Given the description of an element on the screen output the (x, y) to click on. 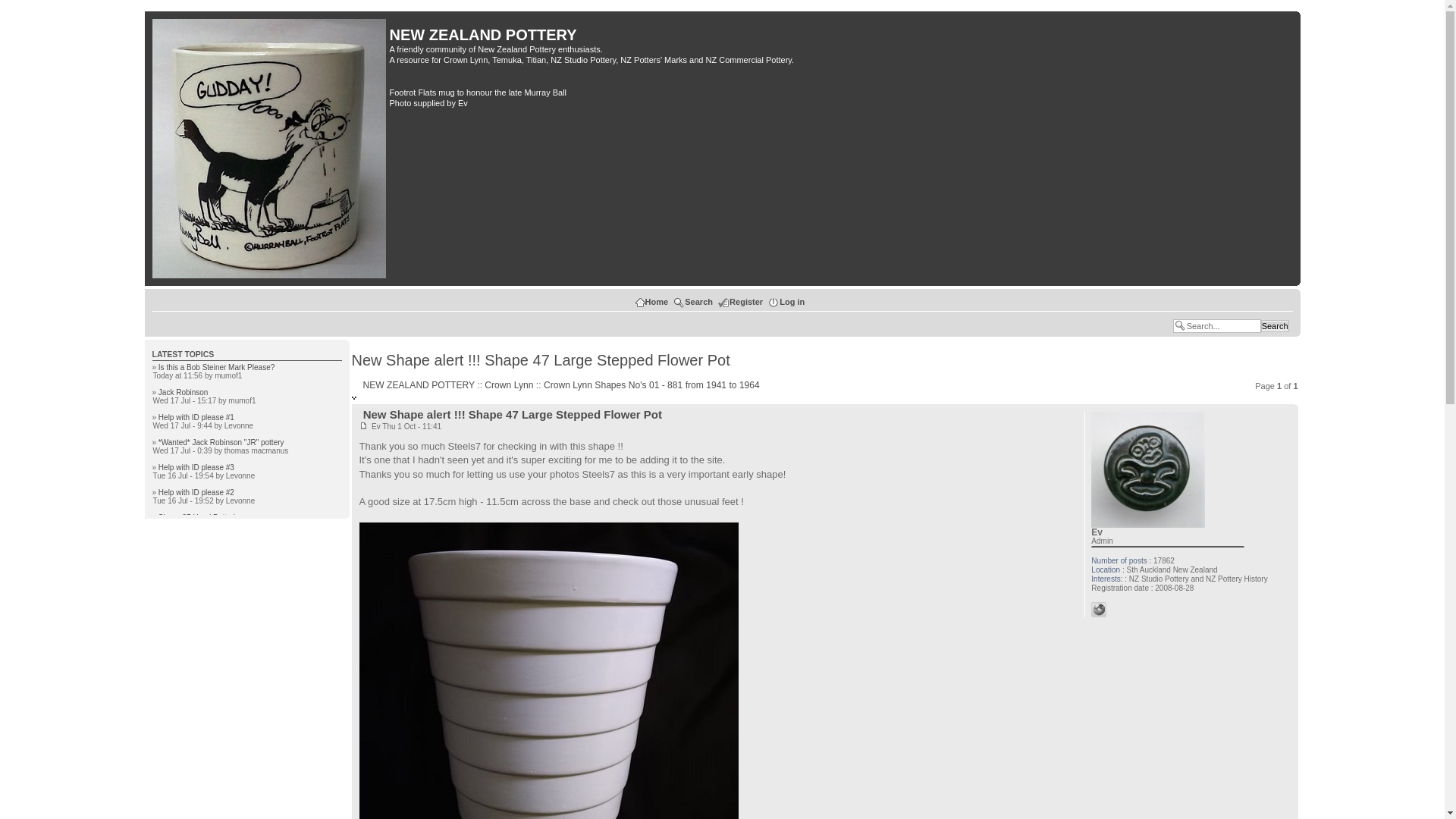
Jack Robinson (183, 392)
New Shape alert !!! Shape 47 Large Stepped Flower Pot (512, 413)
Post (363, 425)
Search (1274, 326)
Register (739, 301)
New Shape alert !!! Shape 47 Large Stepped Flower Pot (541, 360)
Shape 97 Hand Potted (196, 517)
Crown Lynn (508, 385)
Home (639, 302)
Search... (1216, 325)
Is this a Bob Steiner Mark Please? (216, 367)
Log in (772, 302)
Crown Lynn Shapes No's 01 - 881 from 1941 to 1964 (651, 385)
Shape 97 Hand Potted (196, 517)
Visit poster's website (1098, 614)
